Given the description of an element on the screen output the (x, y) to click on. 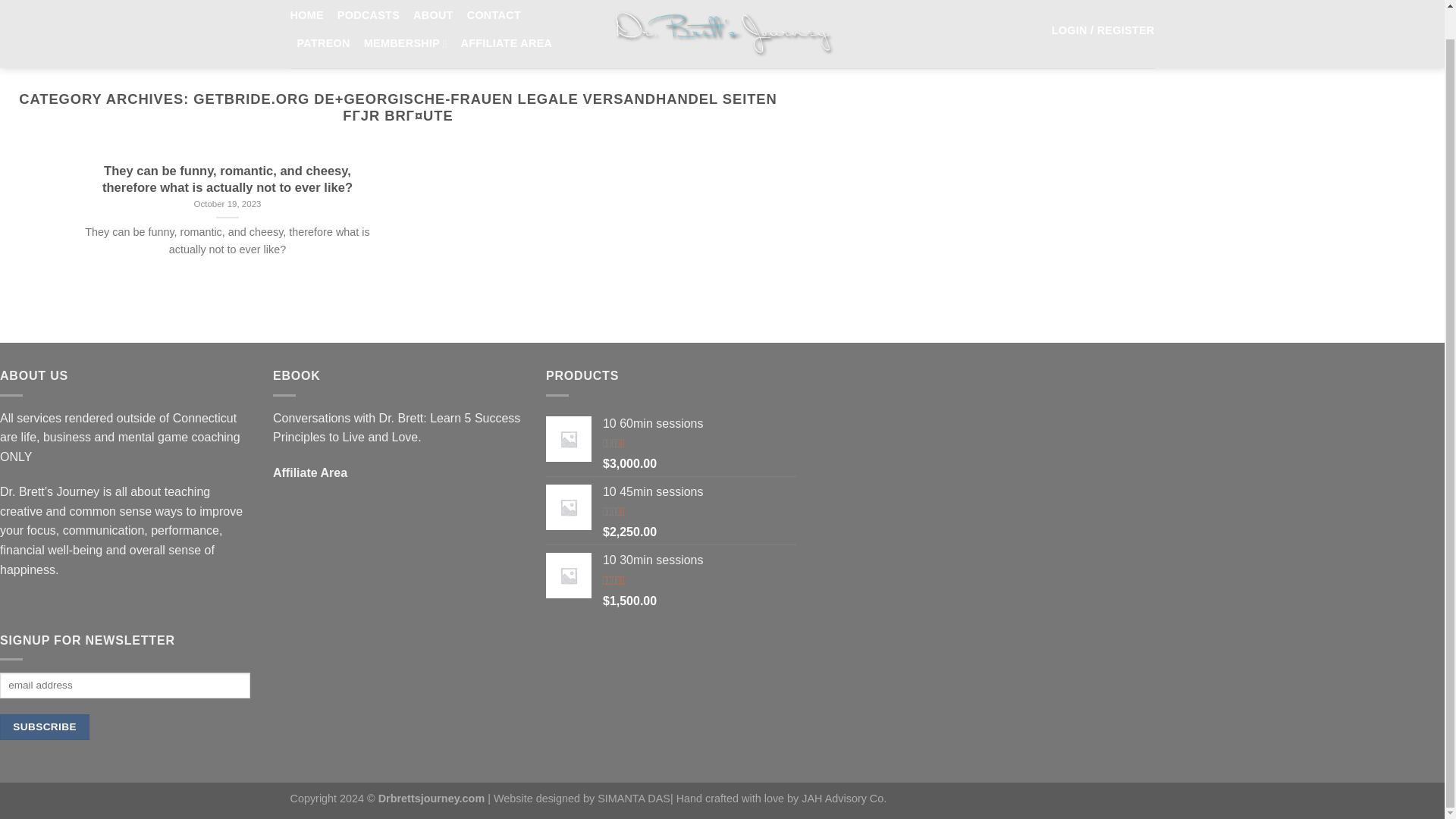
ABOUT (432, 15)
Subscribe (44, 727)
10 45min sessions (699, 492)
Affiliate Area (310, 472)
10 60min sessions (699, 424)
JAH Advisory Co. (844, 798)
PODCASTS (367, 15)
10 30min sessions (699, 560)
CONTACT (494, 15)
HOME (306, 15)
